Given the description of an element on the screen output the (x, y) to click on. 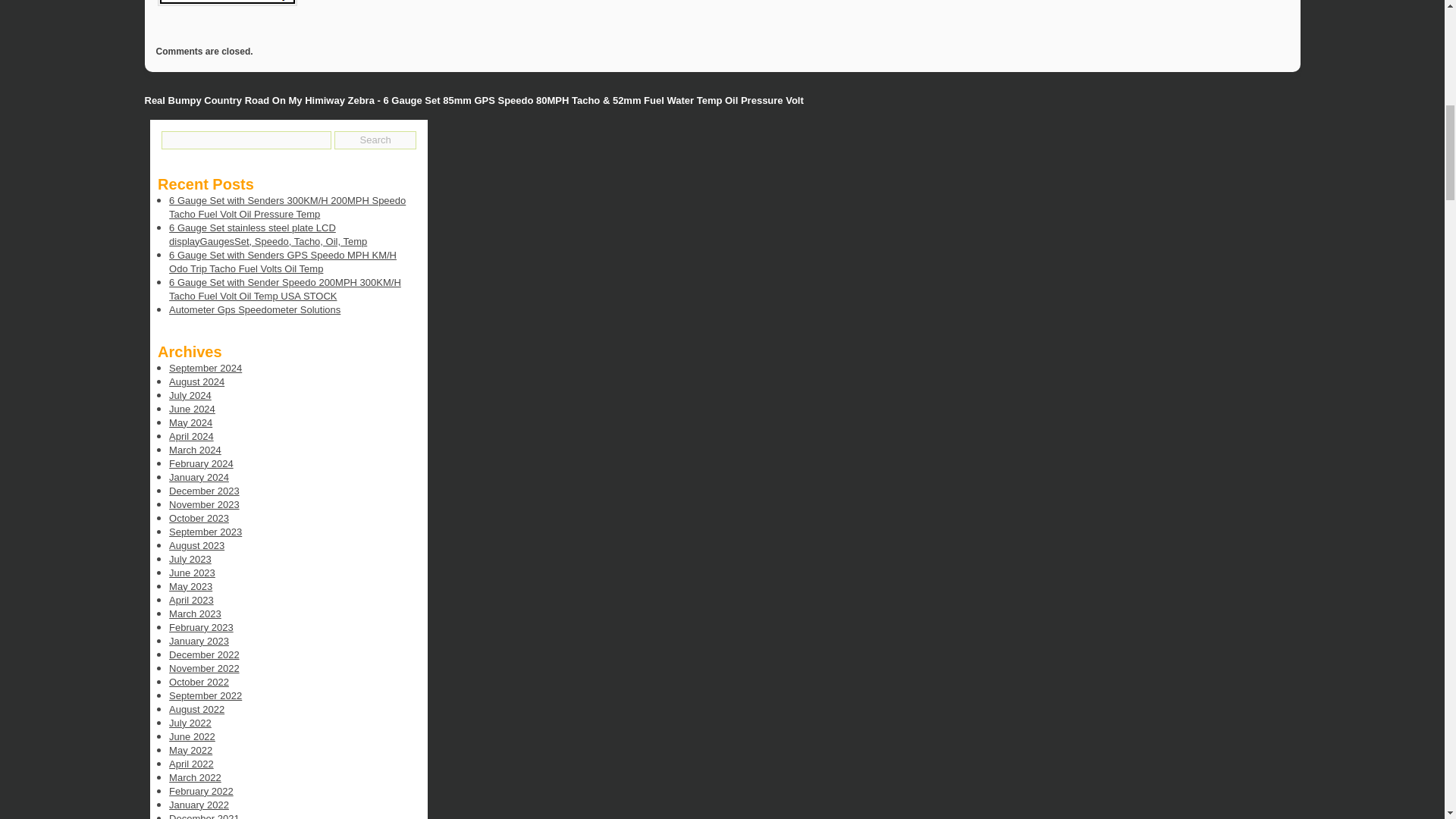
February 2024 (200, 463)
March 2024 (194, 449)
Search (374, 140)
June 2024 (191, 408)
April 2024 (191, 436)
August 2024 (196, 381)
Real Bumpy Country Road On My Himiway Zebra (259, 100)
July 2024 (189, 395)
Autometer Gps Speedometer Solutions (254, 309)
